Given the description of an element on the screen output the (x, y) to click on. 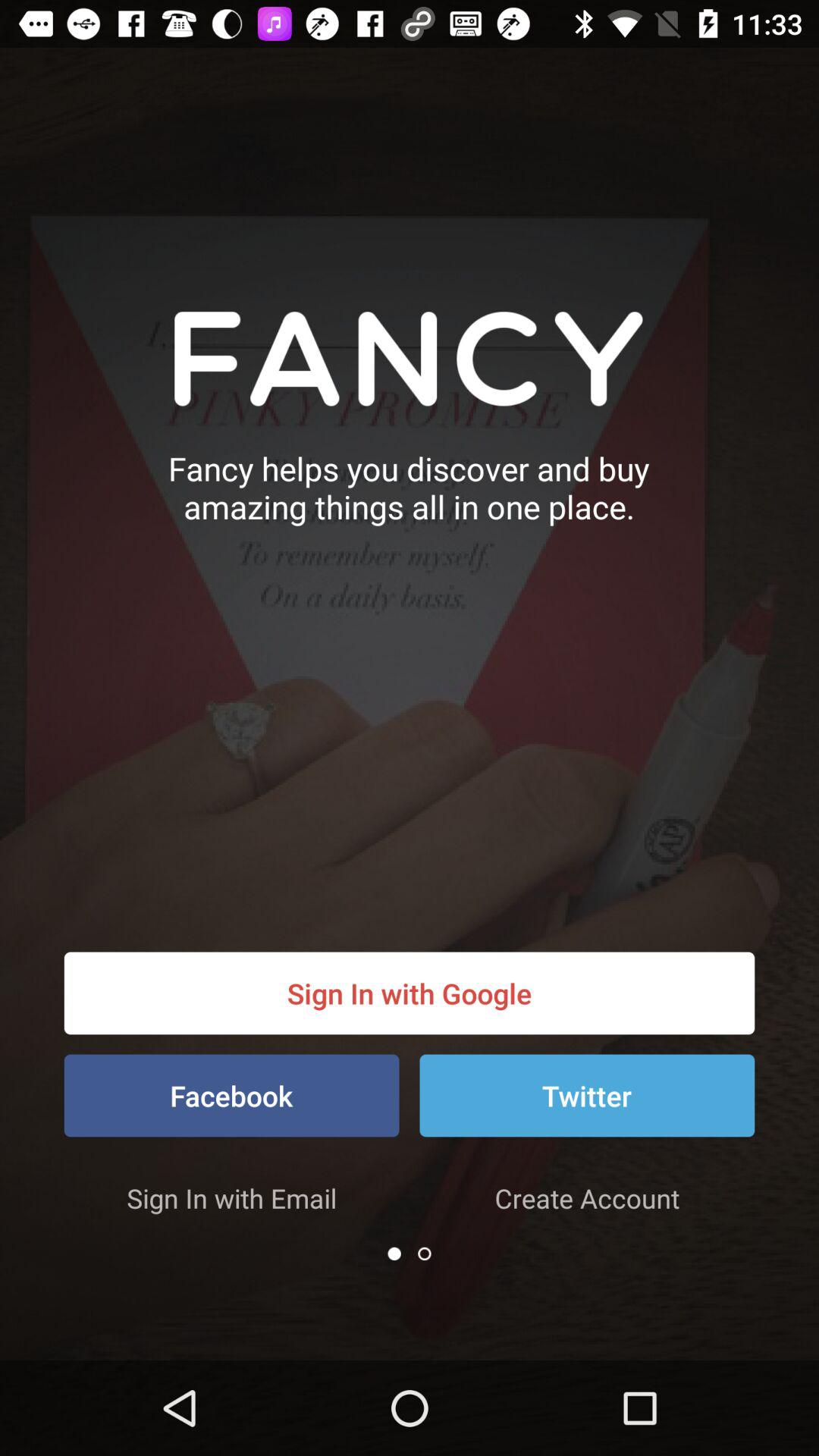
tap the icon below sign in with (231, 1095)
